Given the description of an element on the screen output the (x, y) to click on. 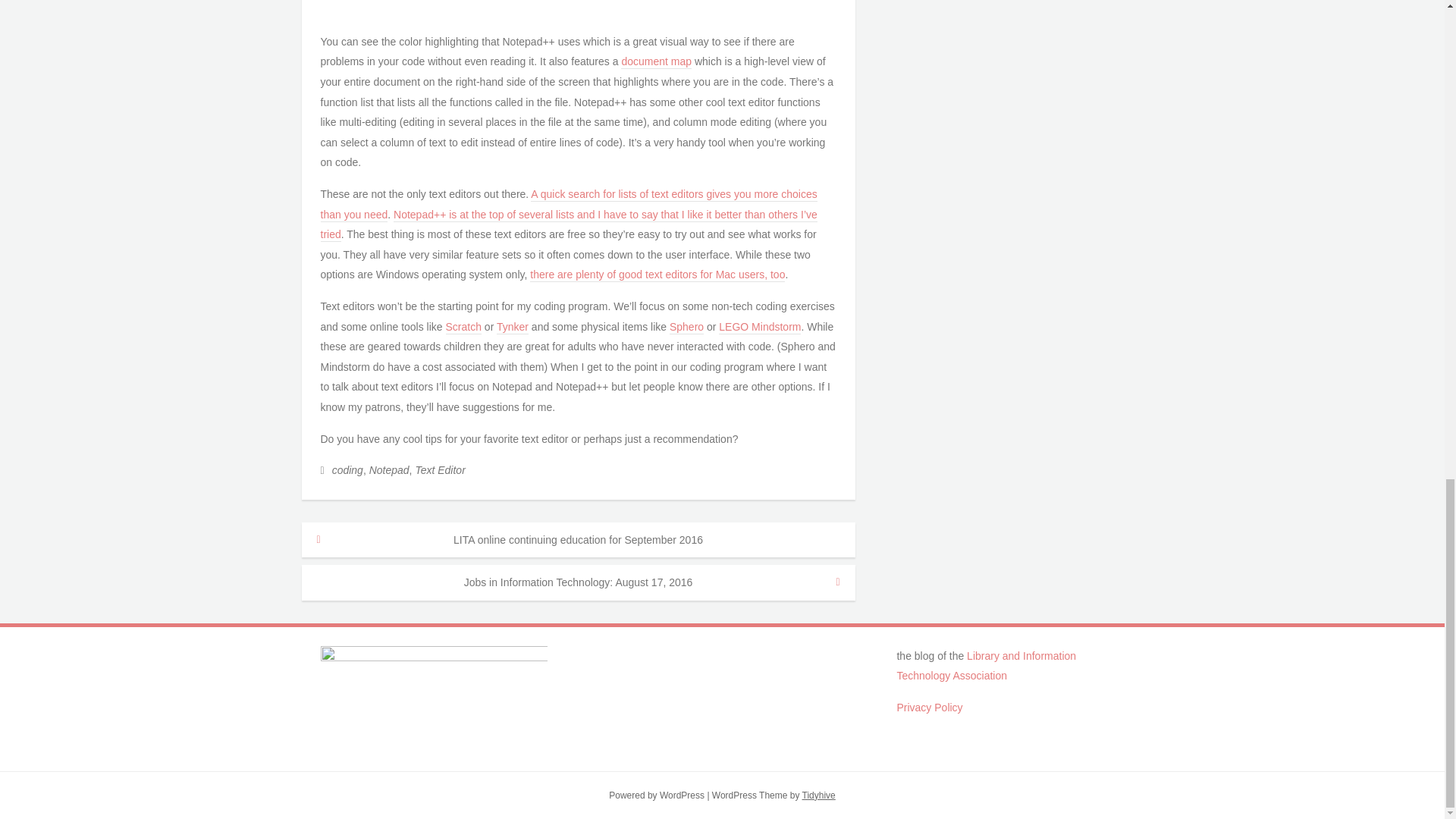
Privacy Policy (929, 707)
Scratch (463, 327)
LITA online continuing education for September 2016 (578, 539)
Tynker (512, 327)
Text Editor (439, 469)
LEGO Mindstorm (759, 327)
document map (656, 61)
Jobs in Information Technology: August 17, 2016 (578, 582)
Tidyhive (818, 795)
there are plenty of good text editors for Mac users, too (656, 274)
